Given the description of an element on the screen output the (x, y) to click on. 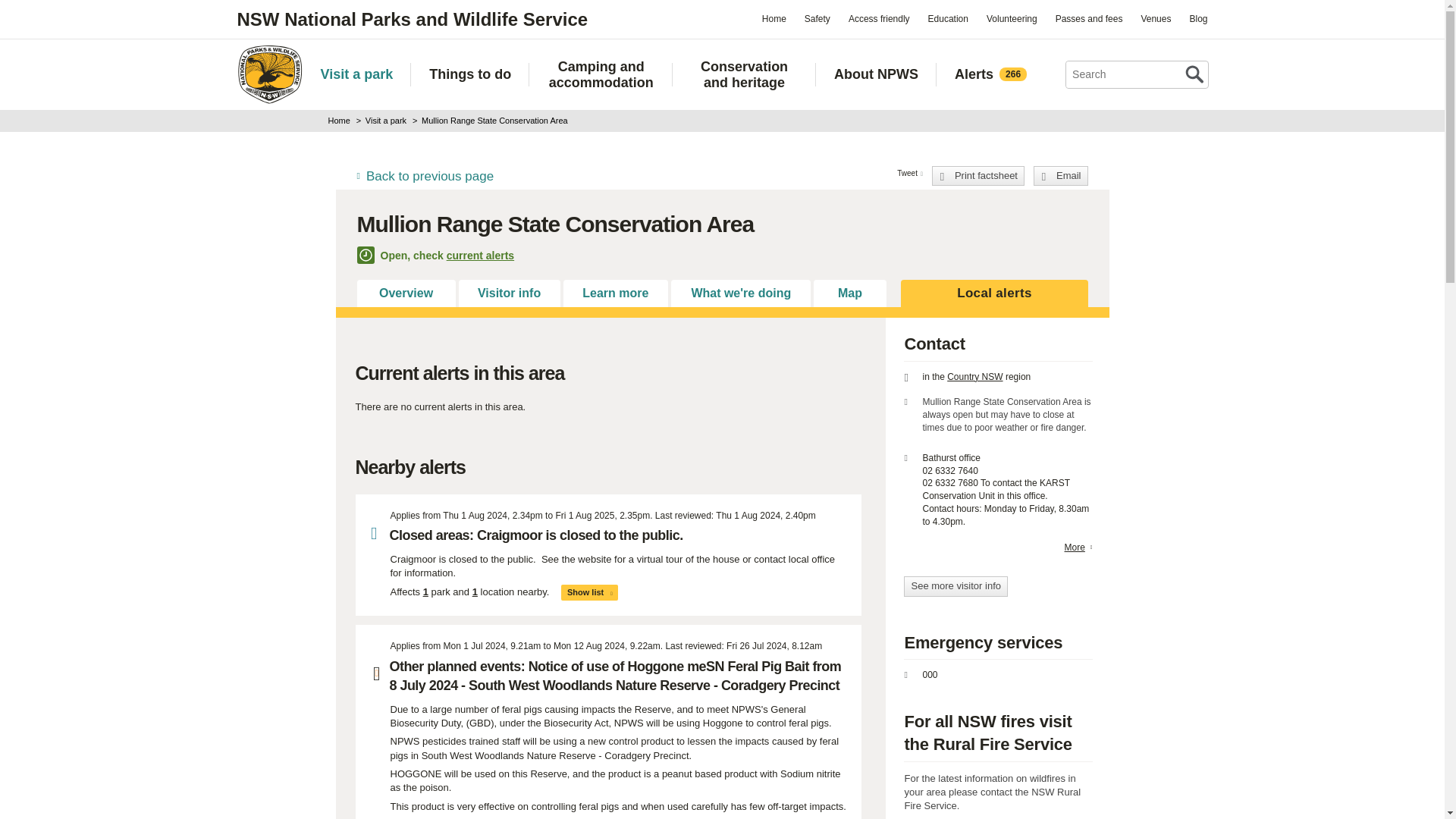
Education (947, 18)
Venues (1155, 18)
Camping and accommodation (600, 74)
Print-friendly version of these webpages (978, 175)
Volunteering (1011, 18)
Access friendly (879, 18)
Passes and fees (1089, 18)
Blog (1197, 18)
Safety (816, 18)
Things to do (470, 73)
Home (773, 18)
Conservation and heritage (743, 74)
Home (268, 74)
Visit a park (356, 73)
